Given the description of an element on the screen output the (x, y) to click on. 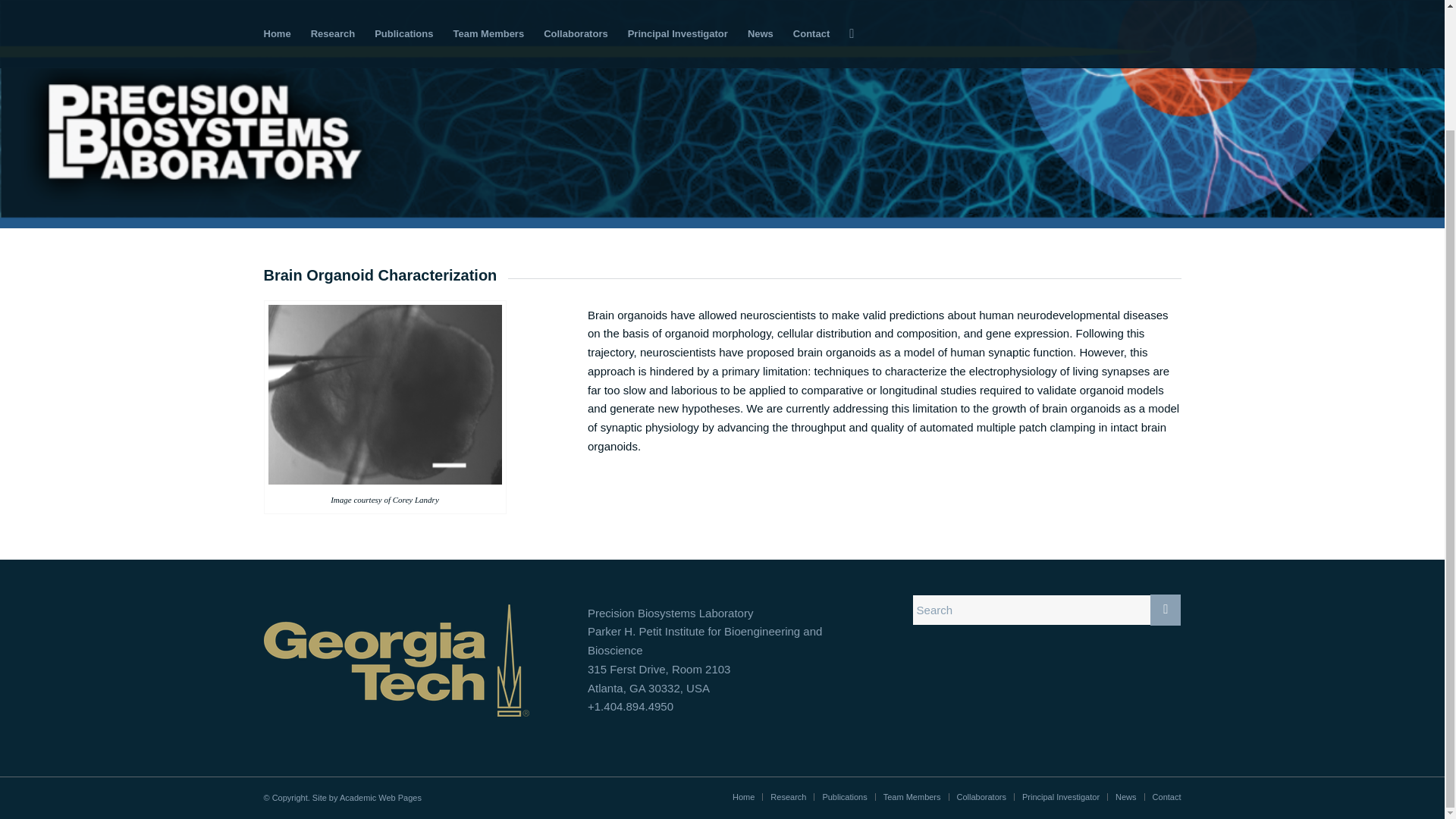
Publications (844, 796)
Contact (1166, 796)
Research (788, 796)
News (1126, 796)
Collaborators (981, 796)
Home (743, 796)
Principal Investigator (1060, 796)
Team Members (911, 796)
Academic Web Pages (380, 797)
